Given the description of an element on the screen output the (x, y) to click on. 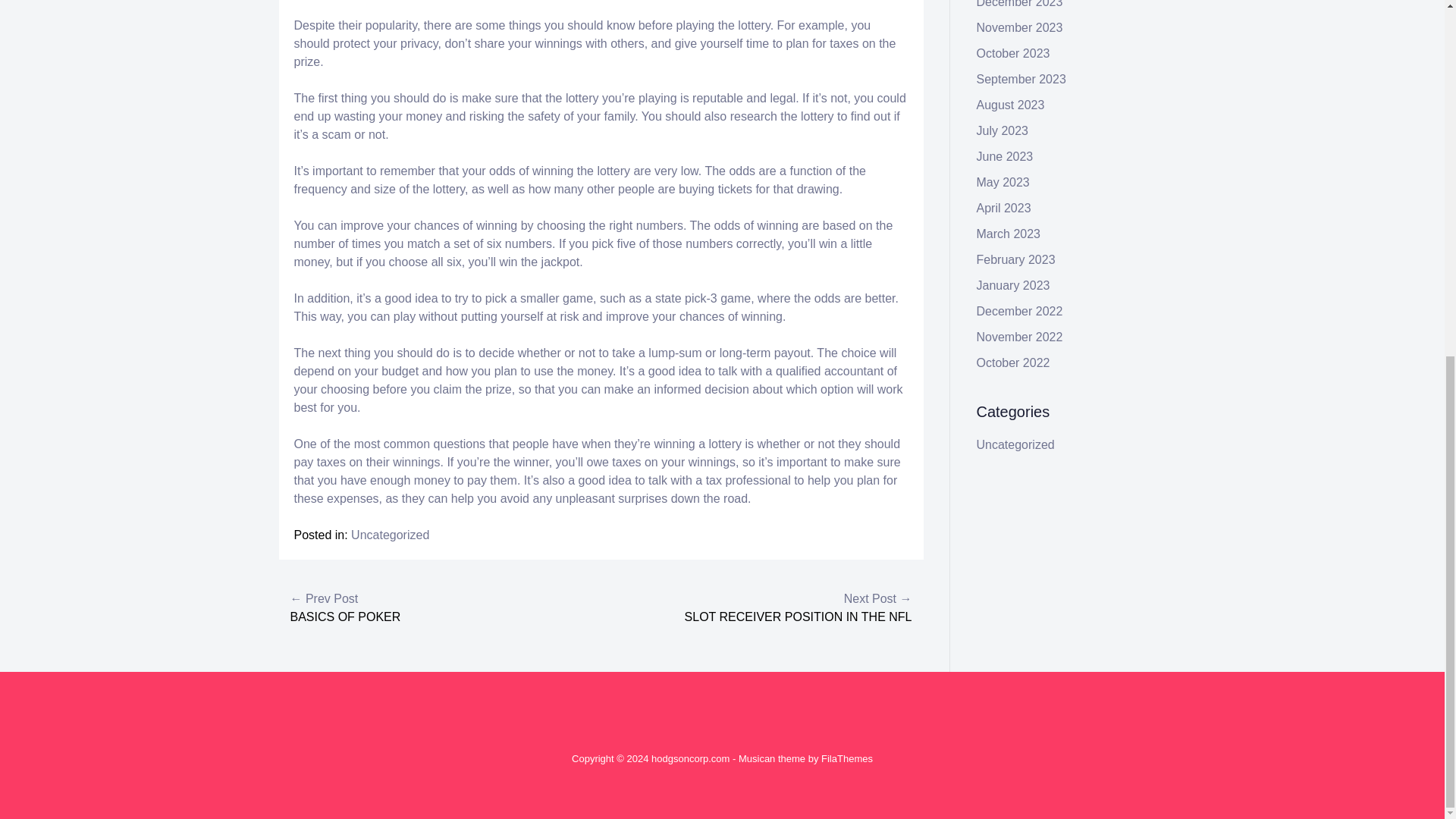
September 2023 (1020, 78)
hodgsoncorp.com (689, 758)
March 2023 (1008, 233)
FilaThemes (846, 758)
December 2023 (1019, 4)
July 2023 (1002, 130)
December 2022 (1019, 310)
June 2023 (1004, 155)
Uncategorized (389, 534)
October 2023 (1012, 52)
November 2022 (1019, 336)
October 2022 (1012, 362)
November 2023 (1019, 27)
January 2023 (1012, 285)
Uncategorized (1015, 444)
